Given the description of an element on the screen output the (x, y) to click on. 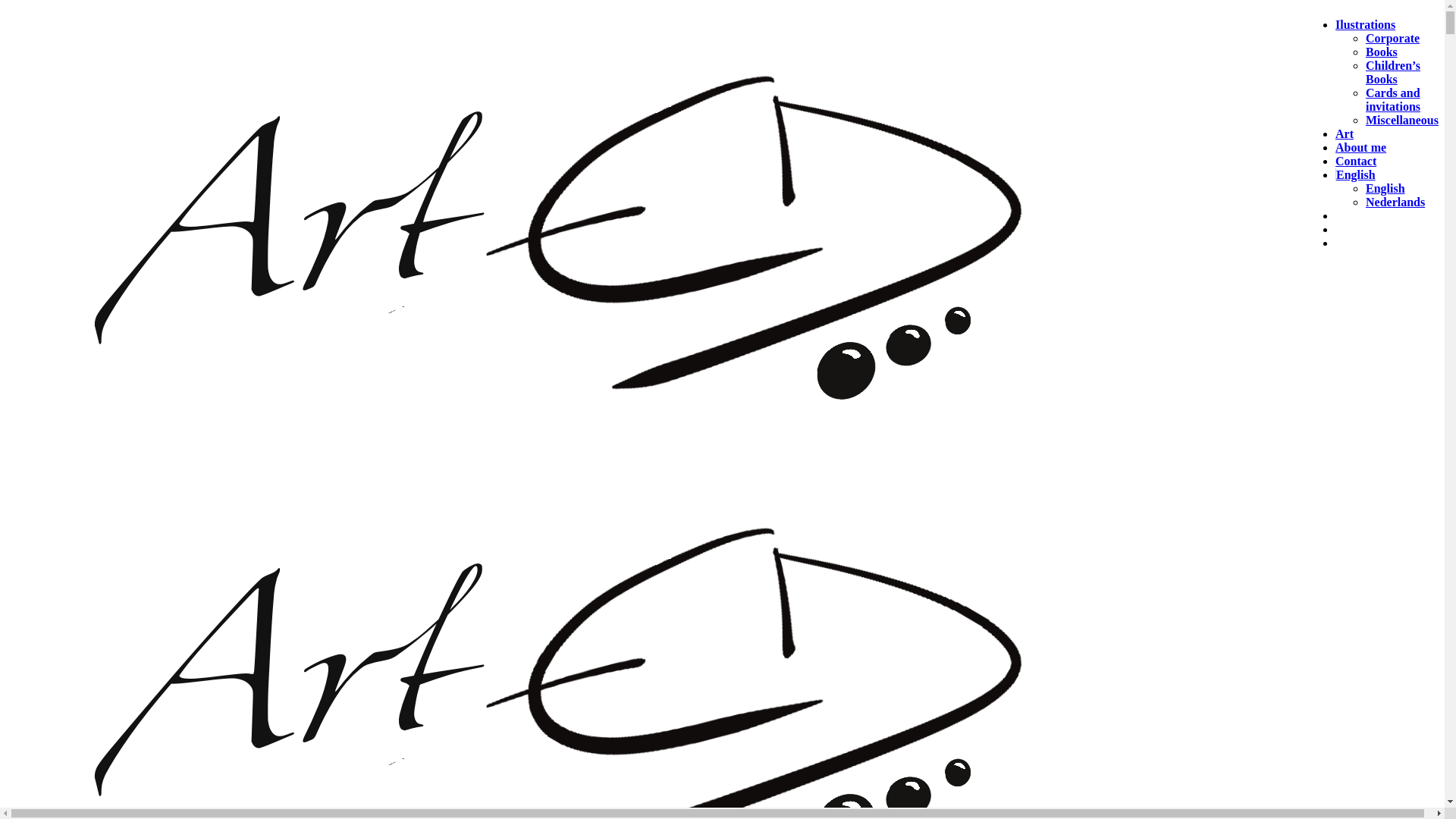
Ilustrations Element type: text (1365, 24)
Nederlands Element type: text (1394, 201)
Books Element type: text (1381, 51)
Corporate Element type: text (1392, 37)
English Element type: text (1385, 188)
English Element type: text (1355, 174)
Miscellaneous Element type: text (1401, 119)
Art Element type: text (1344, 133)
Cards and invitations Element type: text (1392, 99)
About me Element type: text (1360, 147)
Contact Element type: text (1355, 160)
